Given the description of an element on the screen output the (x, y) to click on. 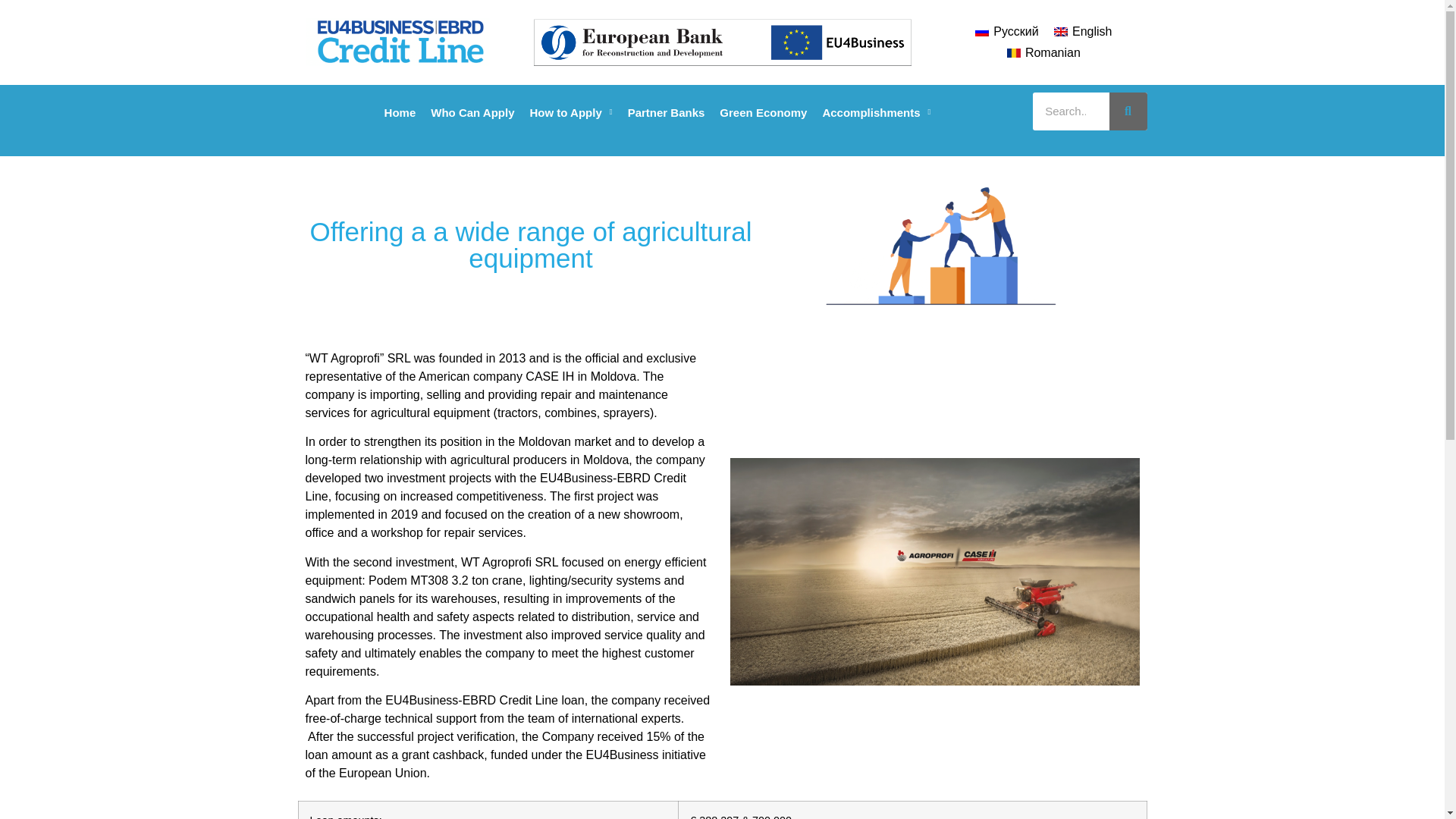
Who Can Apply (472, 112)
Home (400, 112)
How to Apply (571, 112)
English (1082, 31)
Accomplishments (875, 112)
Romanian (1042, 52)
Green Economy (762, 112)
Partner Banks (666, 112)
